Given the description of an element on the screen output the (x, y) to click on. 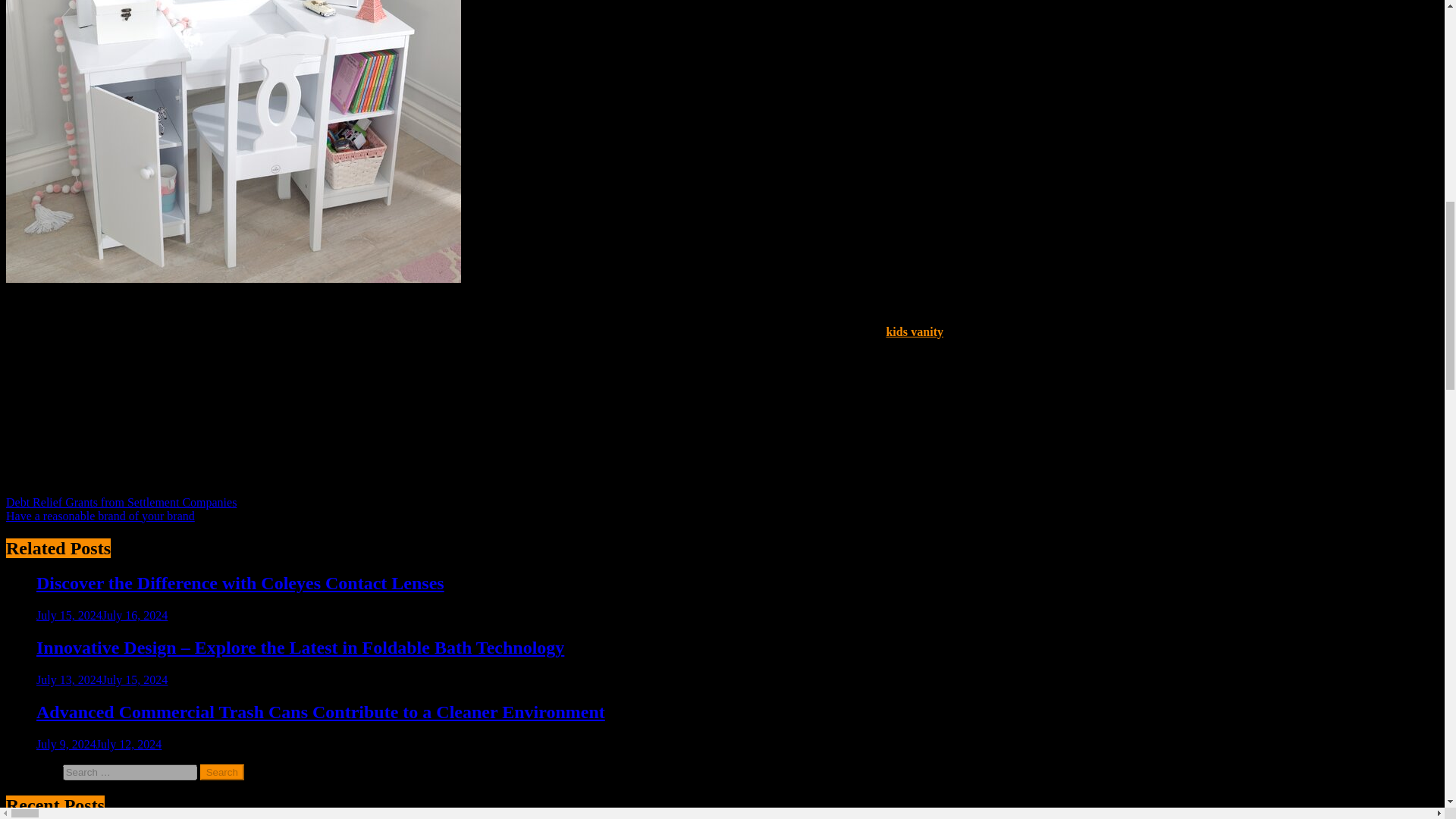
July 15, 2024July 16, 2024 (101, 615)
kids vanity (914, 331)
July 13, 2024July 15, 2024 (101, 679)
Search (222, 772)
Discover the Difference with Coleyes Contact Lenses (240, 582)
Search (222, 772)
Have a reasonable brand of your brand (100, 515)
Debt Relief Grants from Settlement Companies (120, 502)
